Given the description of an element on the screen output the (x, y) to click on. 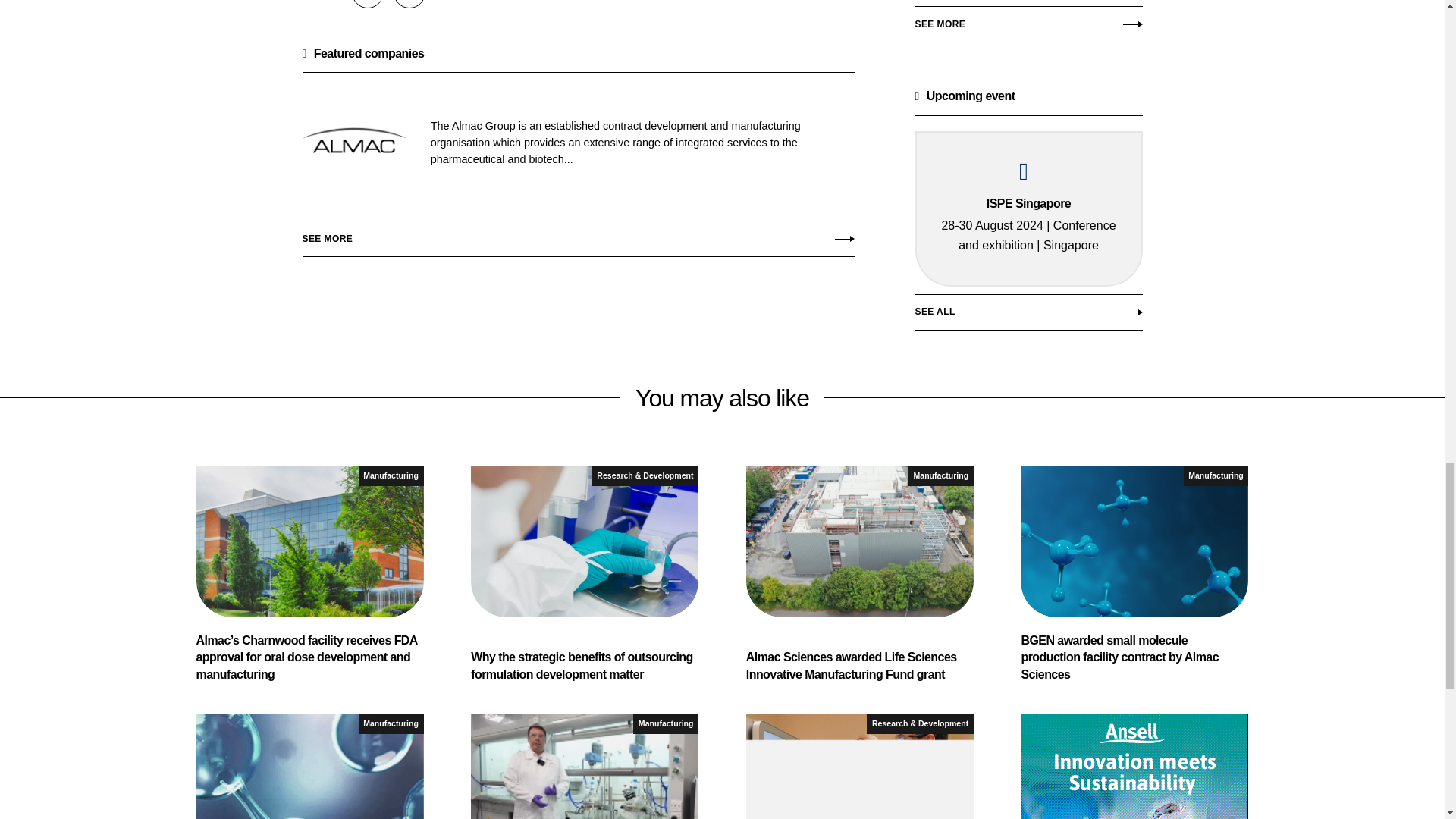
Follow Manufacturing Chemist on X (368, 4)
SEE MORE (1027, 28)
X (368, 4)
Follow Manufacturing Chemist on LinkedIn (409, 4)
SEE MORE (577, 234)
LinkedIn (409, 4)
